Given the description of an element on the screen output the (x, y) to click on. 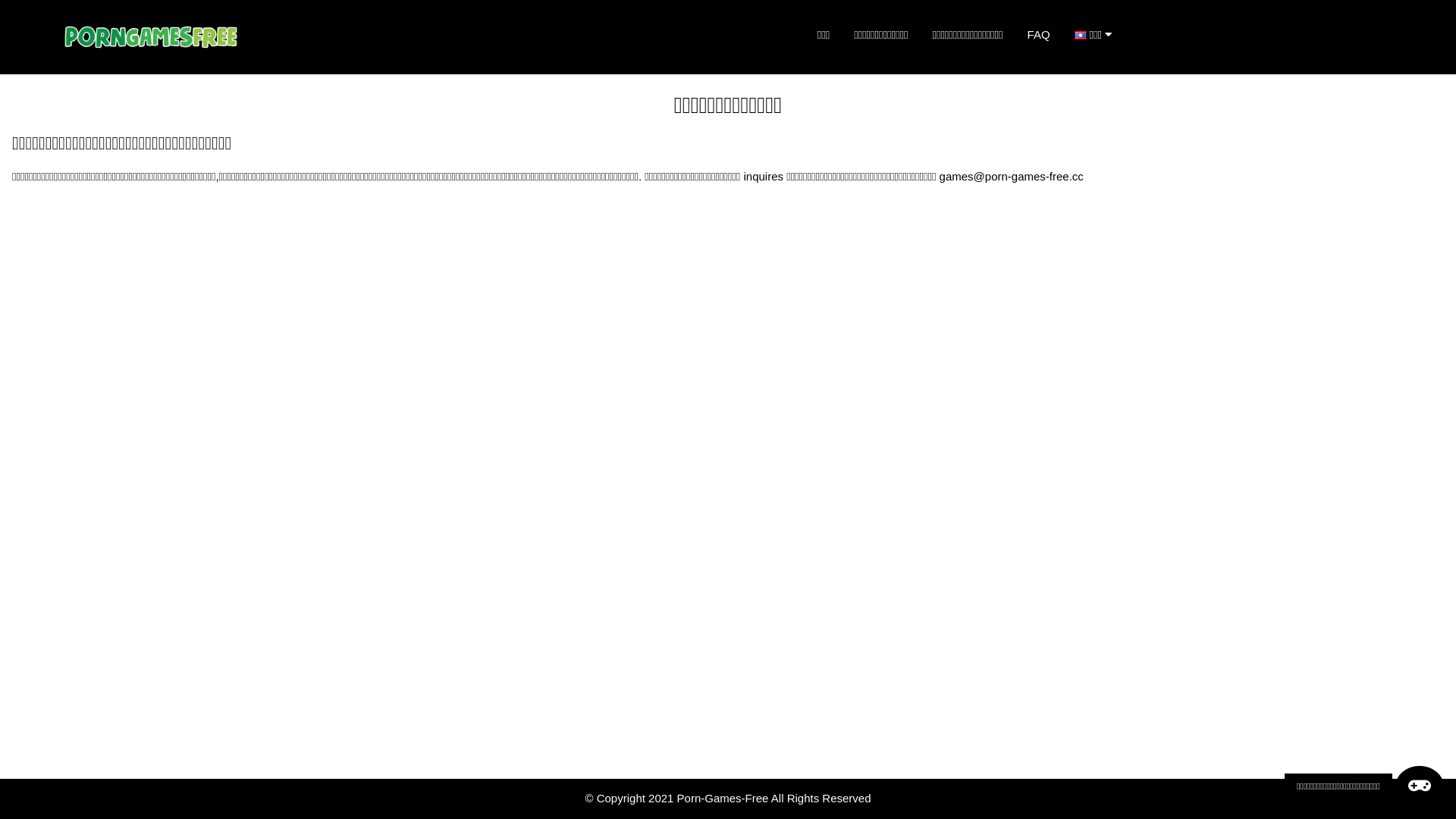
FAQ Element type: text (1038, 35)
